Given the description of an element on the screen output the (x, y) to click on. 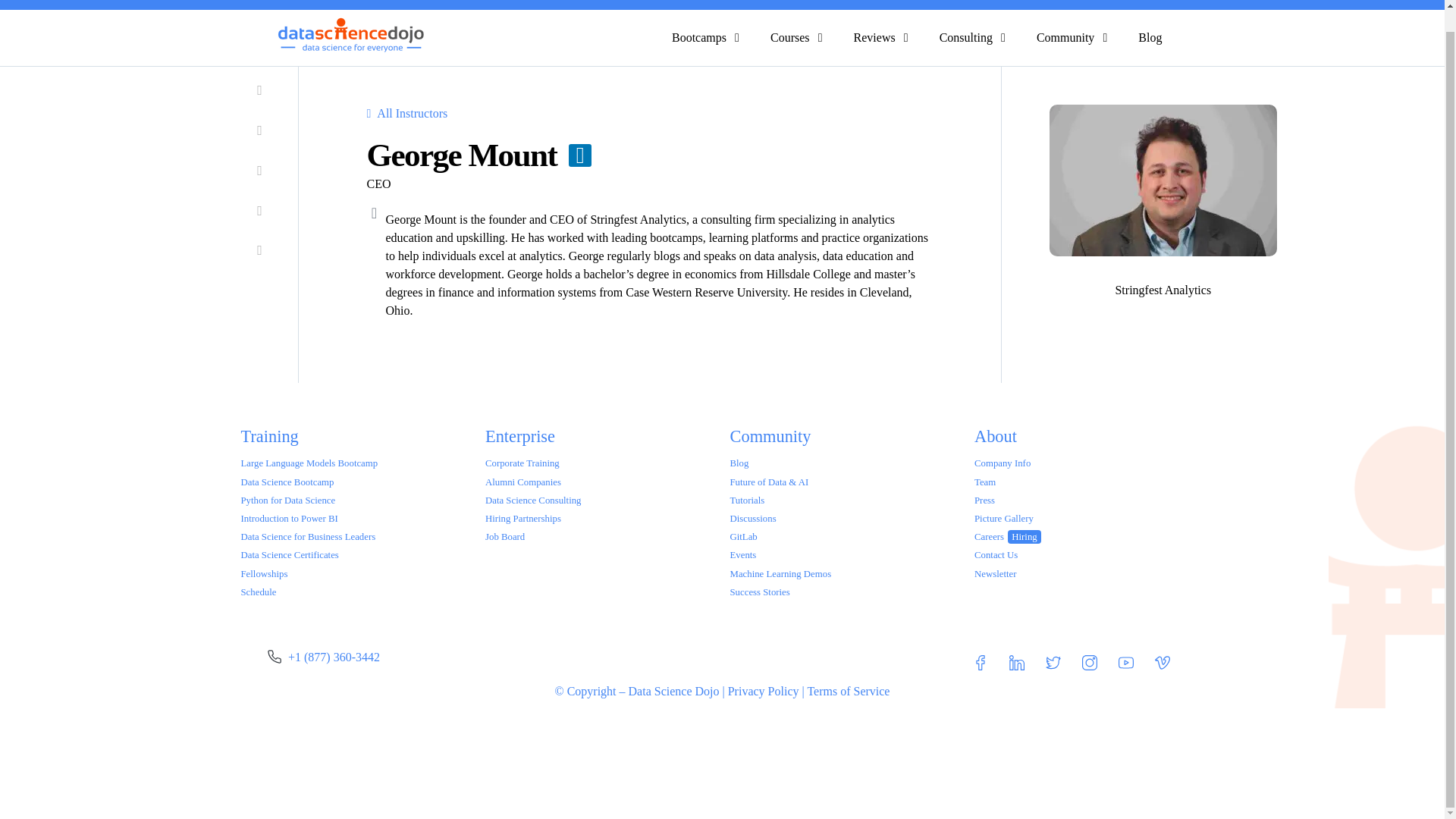
Blog (1149, 37)
Community (1065, 37)
Consulting (965, 37)
Bootcamps (698, 37)
All Instructors (407, 113)
Courses (789, 37)
Reviews (874, 37)
